Given the description of an element on the screen output the (x, y) to click on. 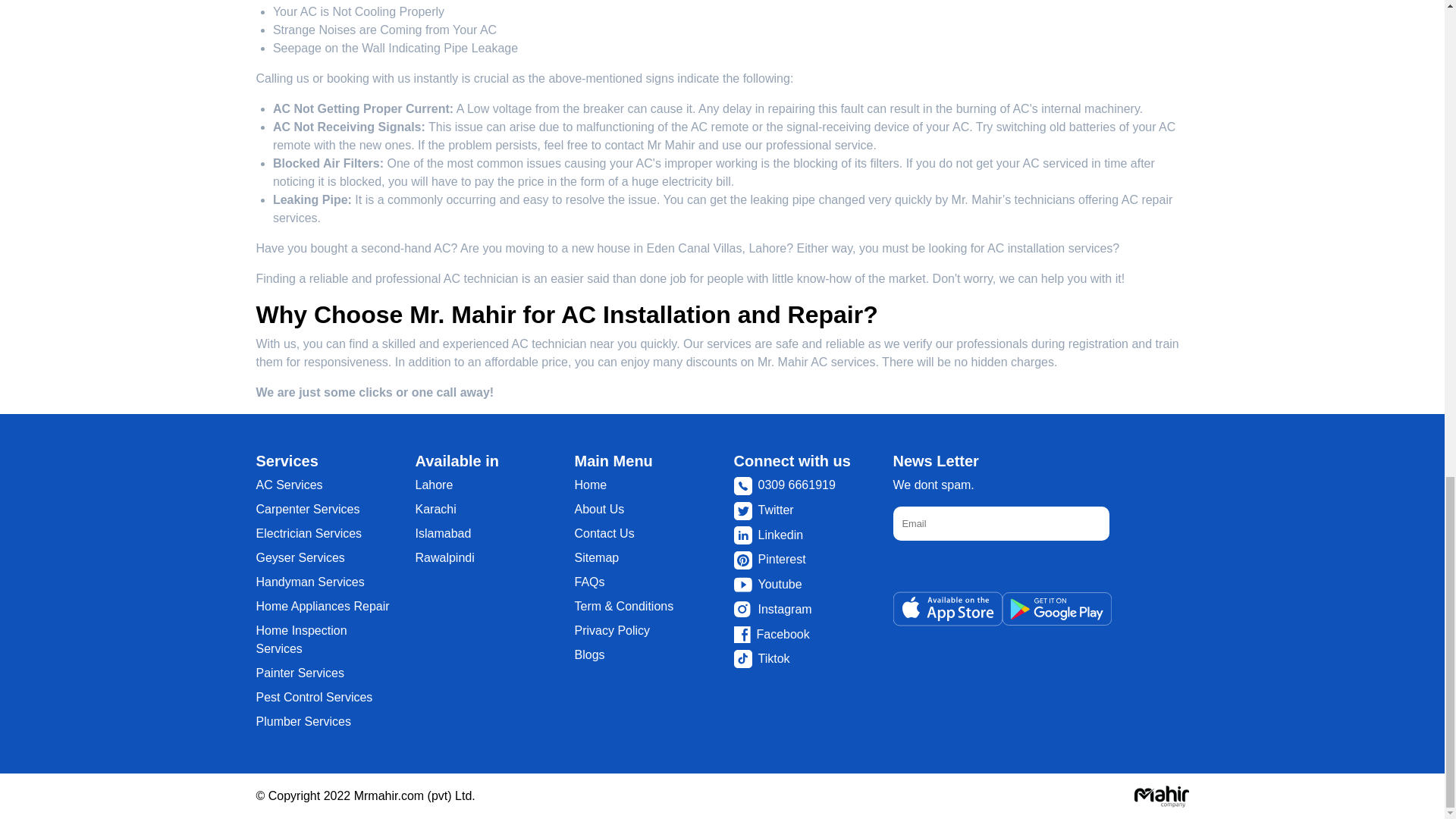
Plumber Services (303, 721)
Painter Services (300, 672)
AC Services (289, 484)
Lahore (433, 484)
Home Appliances Repair (323, 605)
Pest Control Services (314, 697)
Geyser Services (300, 557)
Handyman Services (310, 581)
Electrician Services (309, 533)
Home Inspection Services (301, 639)
Carpenter Services (307, 508)
